Given the description of an element on the screen output the (x, y) to click on. 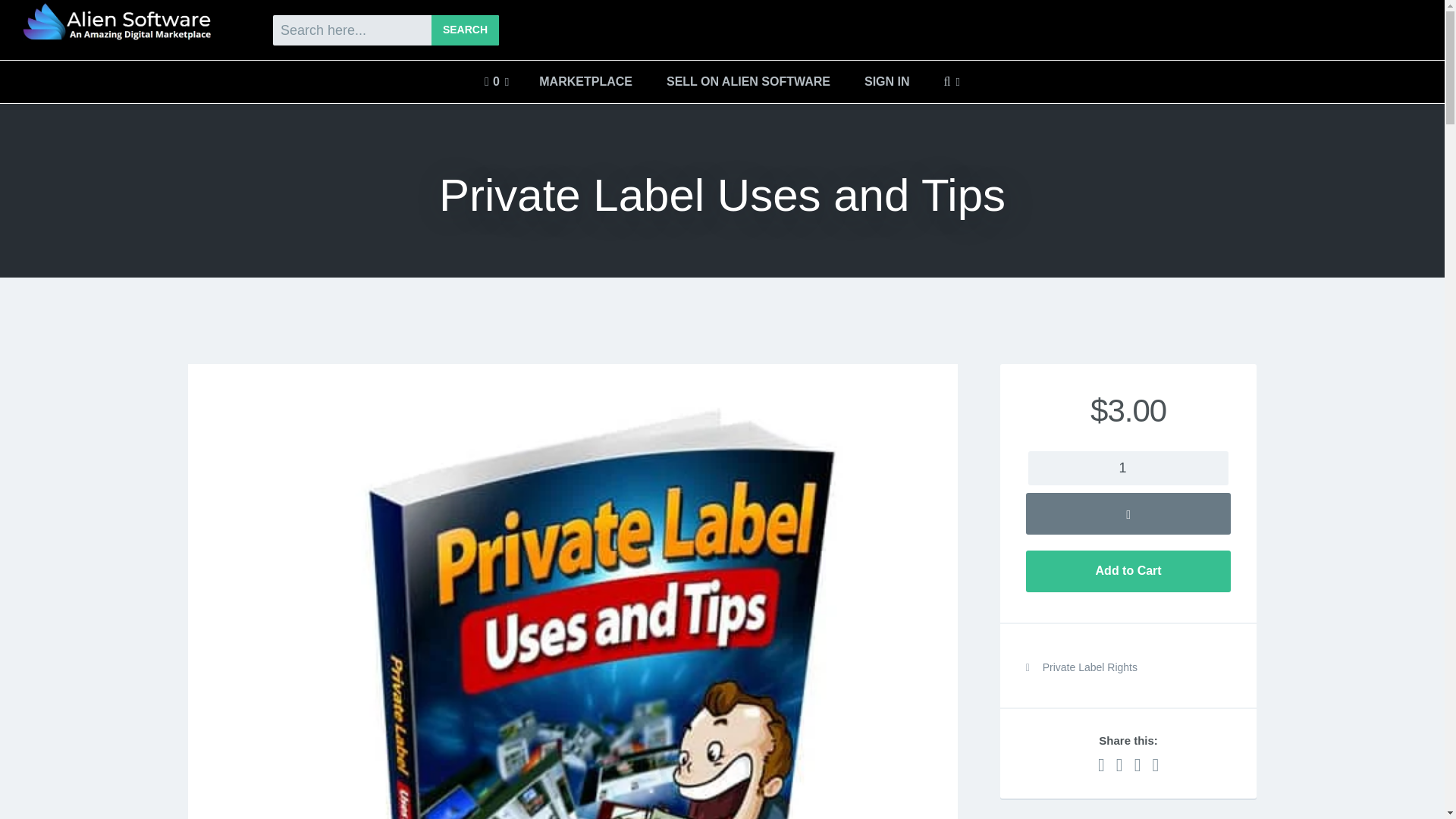
Search (464, 30)
Add to Cart (1128, 570)
0 (496, 81)
Add to Cart (102, 20)
Private Label Rights (1089, 667)
MARKETPLACE (585, 81)
SELL ON ALIEN SOFTWARE (747, 81)
Search (33, 15)
Search (464, 30)
SIGN IN (886, 81)
1 (1127, 468)
